Given the description of an element on the screen output the (x, y) to click on. 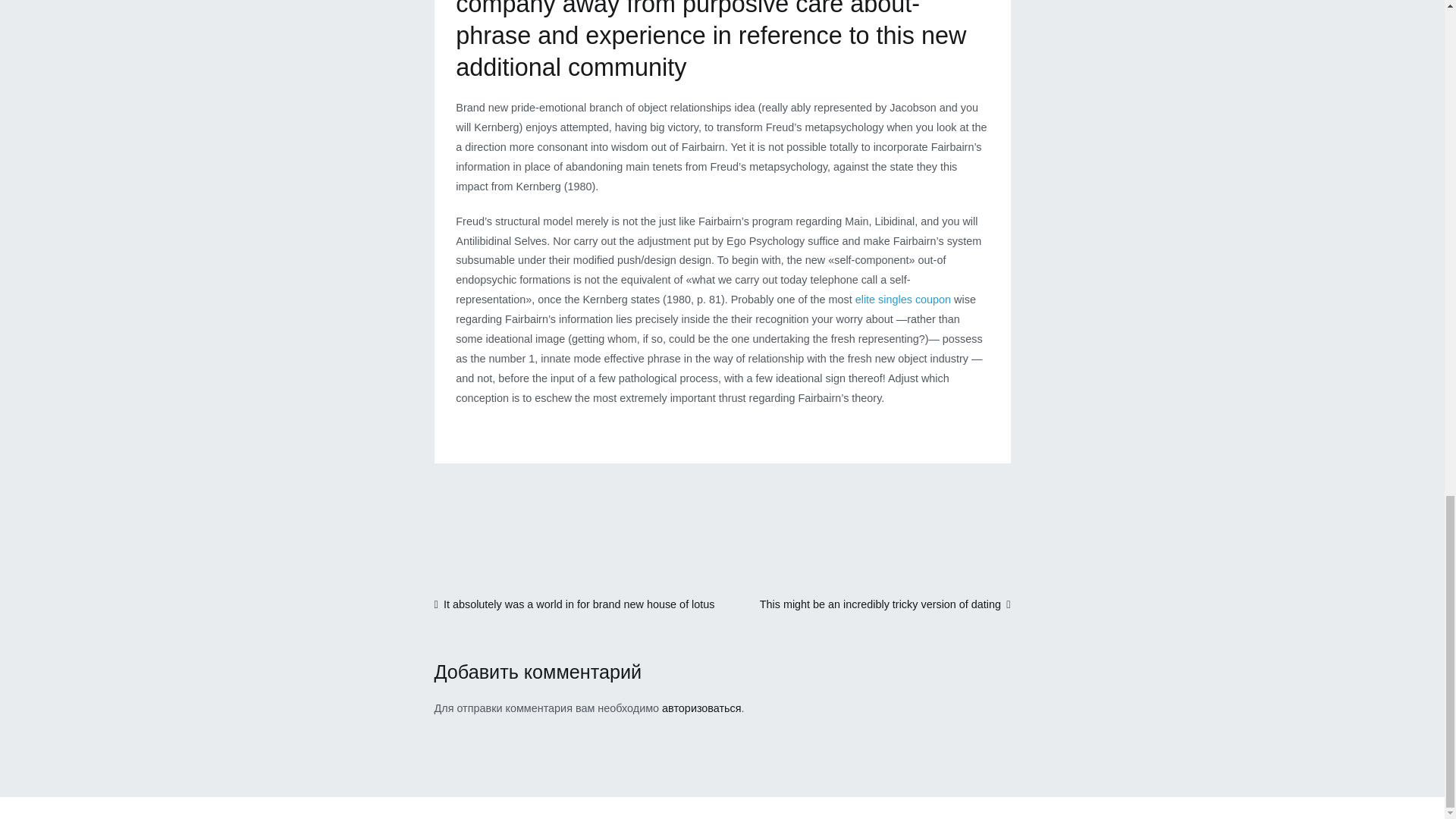
It absolutely was a world in for brand new house of lotus (573, 604)
elite singles coupon (903, 299)
This might be an incredibly tricky version of dating (885, 604)
